Given the description of an element on the screen output the (x, y) to click on. 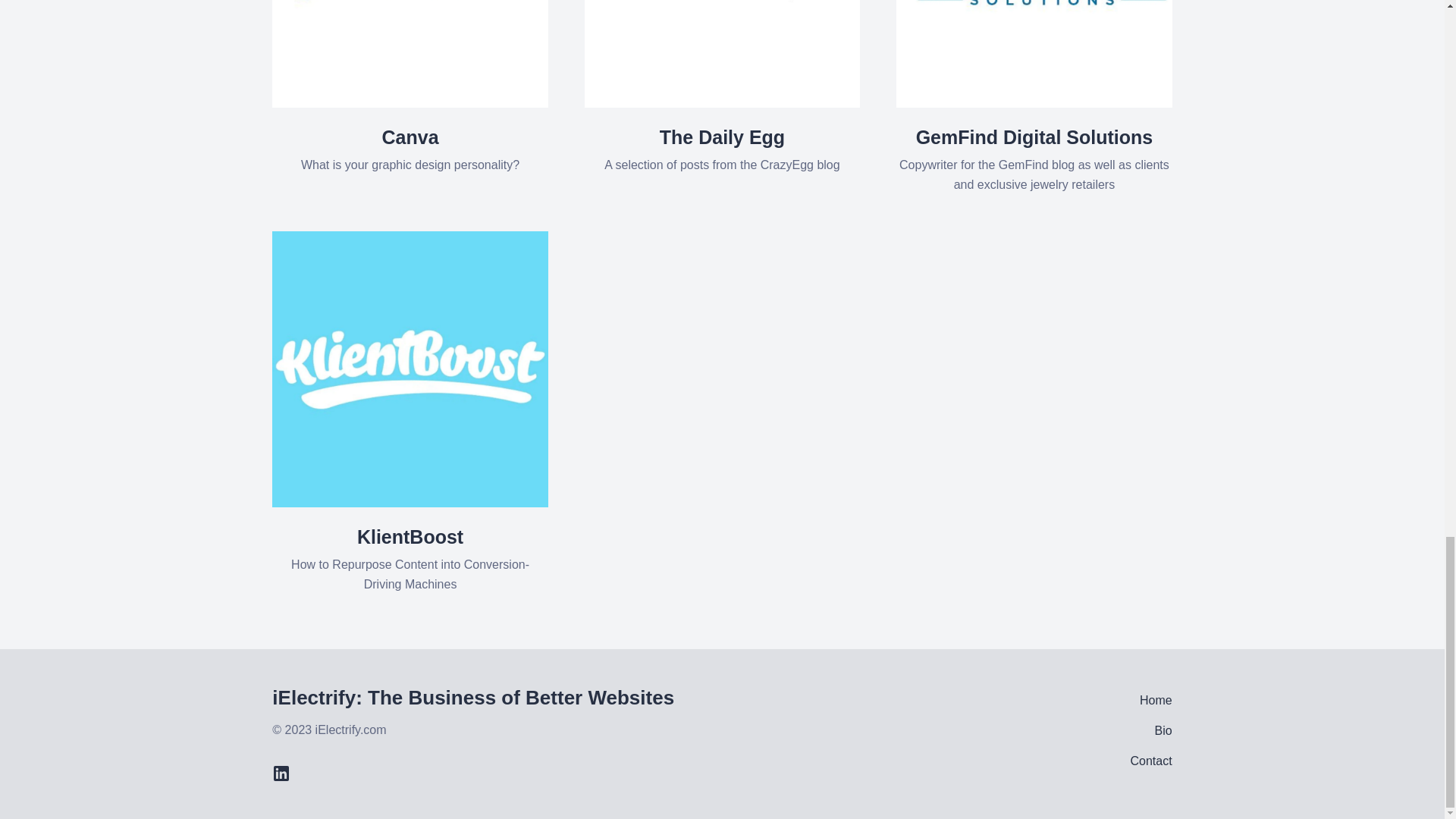
Bio (409, 150)
Canva (1163, 730)
The Daily Egg (409, 150)
Contact (722, 150)
GemFind Digital Solutions (1150, 761)
KlientBoost (1034, 160)
Home (722, 150)
